Given the description of an element on the screen output the (x, y) to click on. 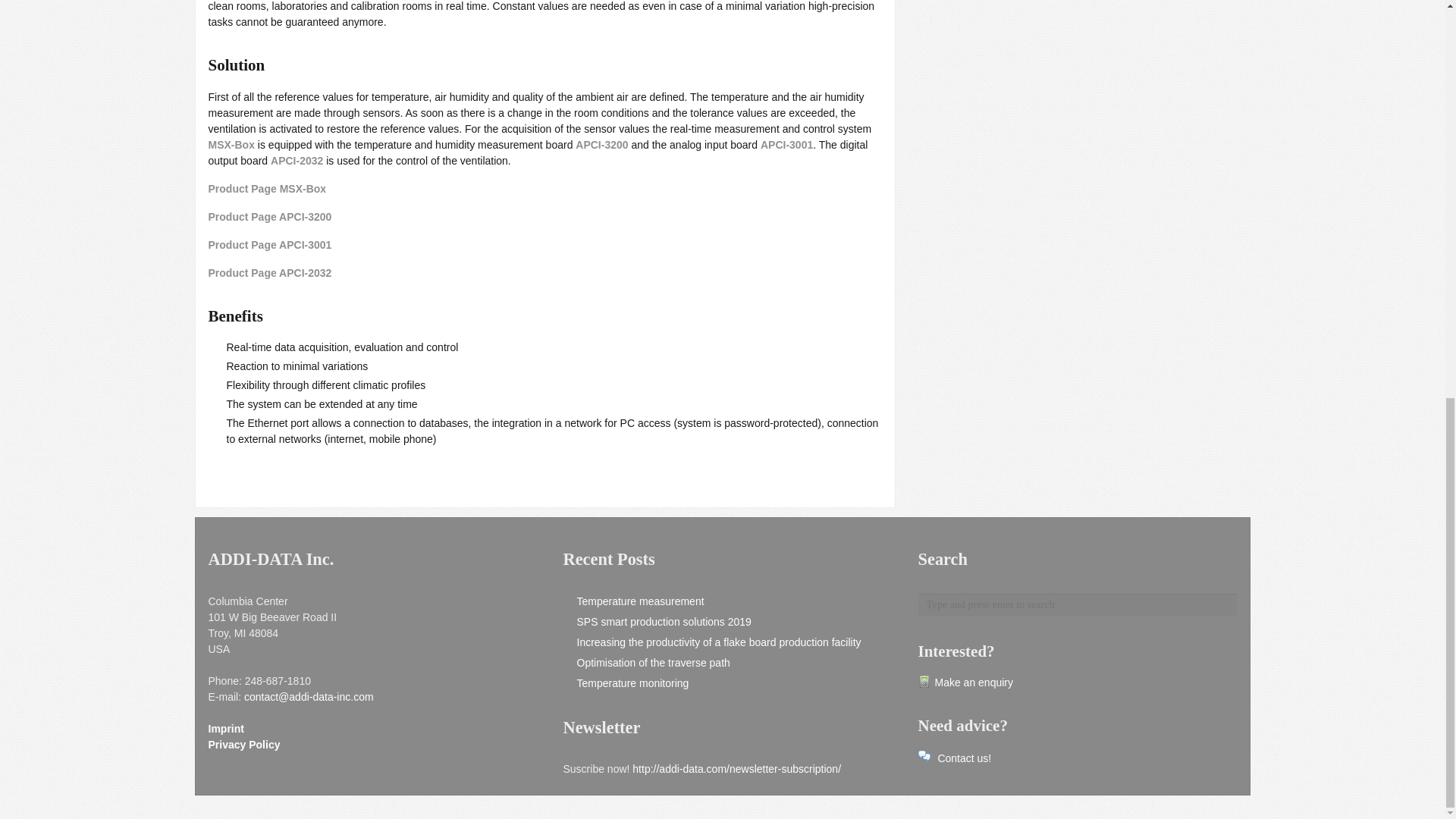
Contact form (954, 758)
Imprint (225, 728)
Newsletter subscription (736, 768)
Contact form (965, 682)
Privacy policy (243, 744)
